Given the description of an element on the screen output the (x, y) to click on. 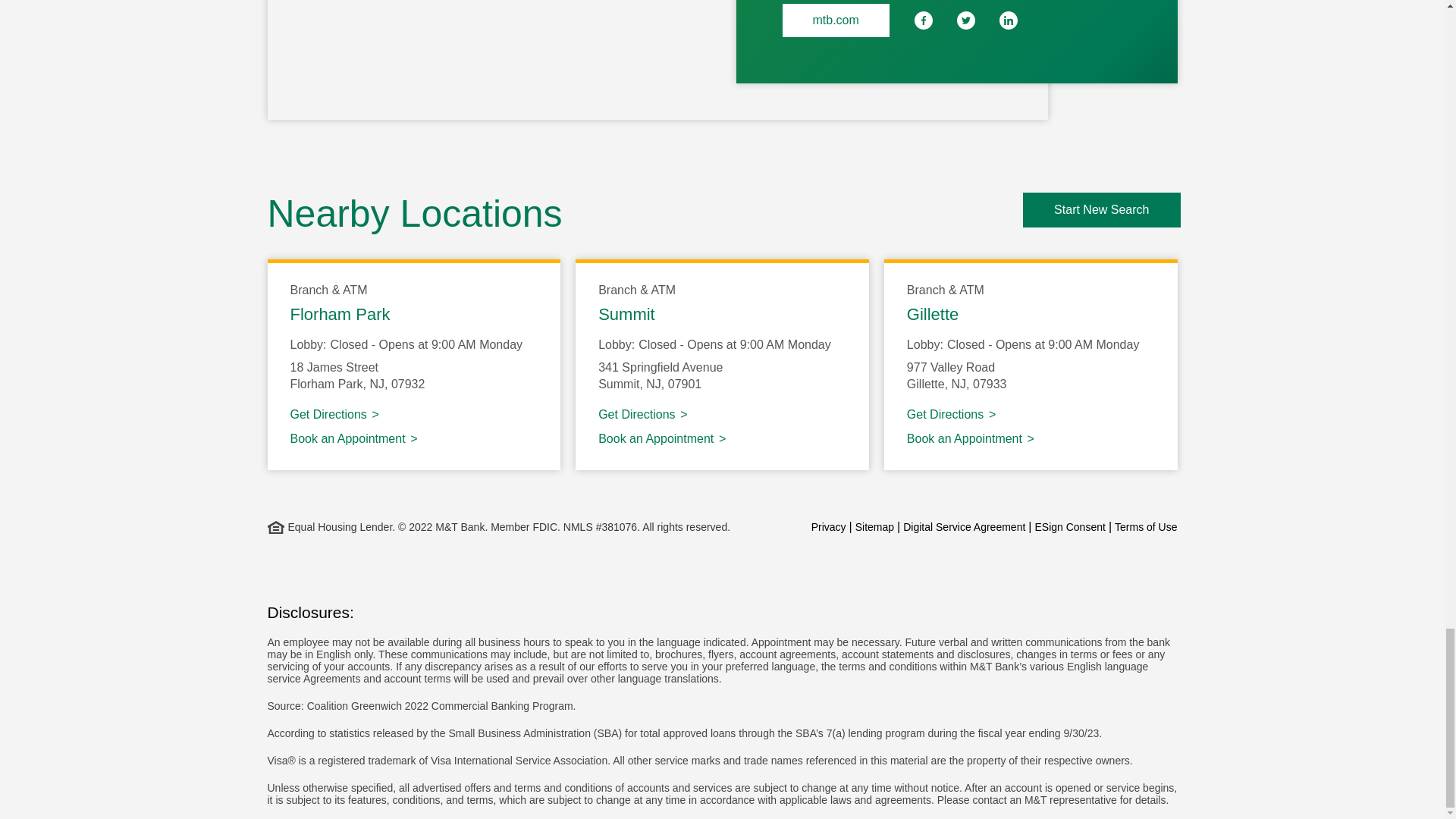
New Jersey (376, 383)
New Jersey (653, 383)
New Jersey (959, 383)
